Given the description of an element on the screen output the (x, y) to click on. 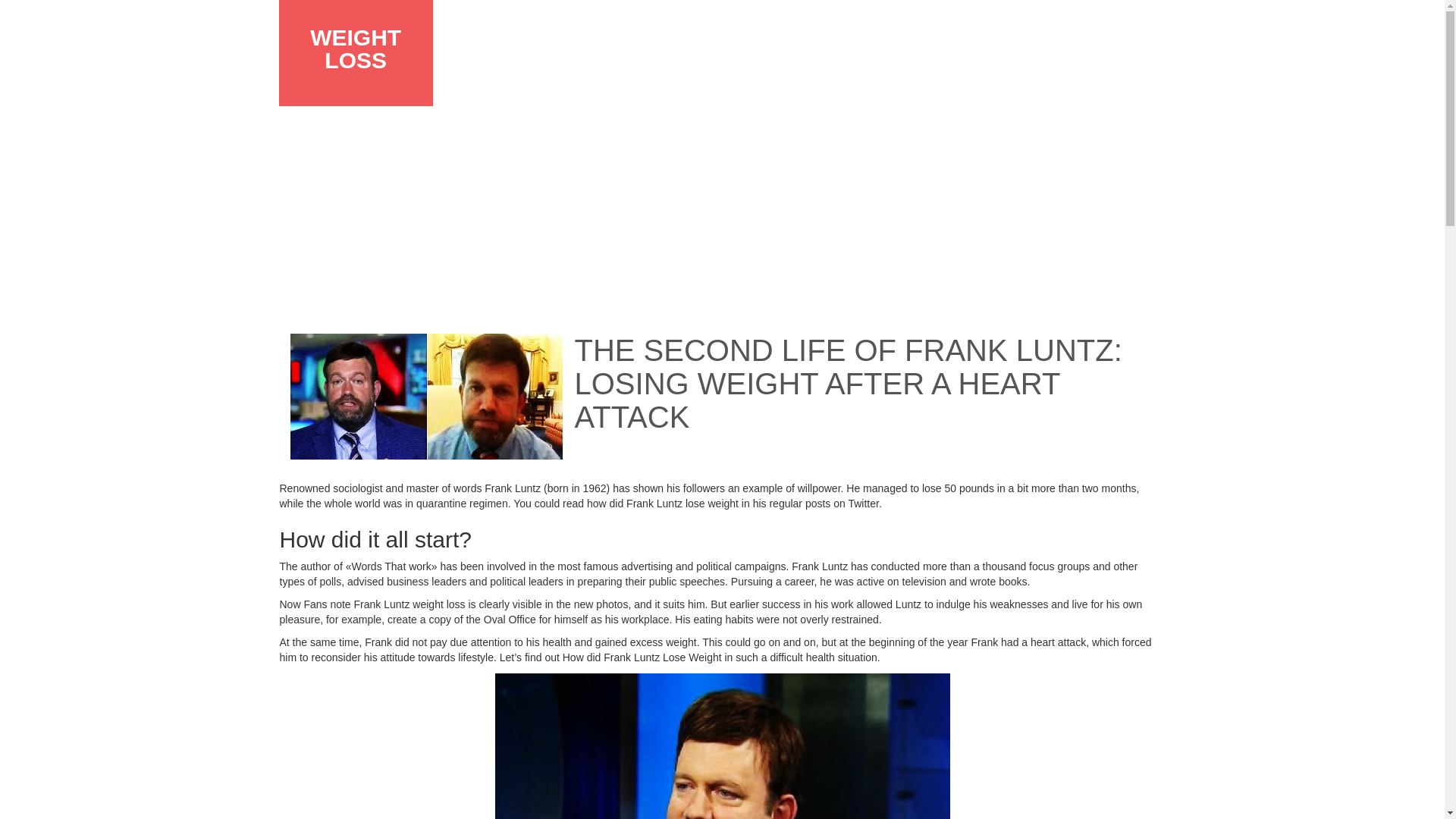
WEIGHT LOSS (355, 48)
